Given the description of an element on the screen output the (x, y) to click on. 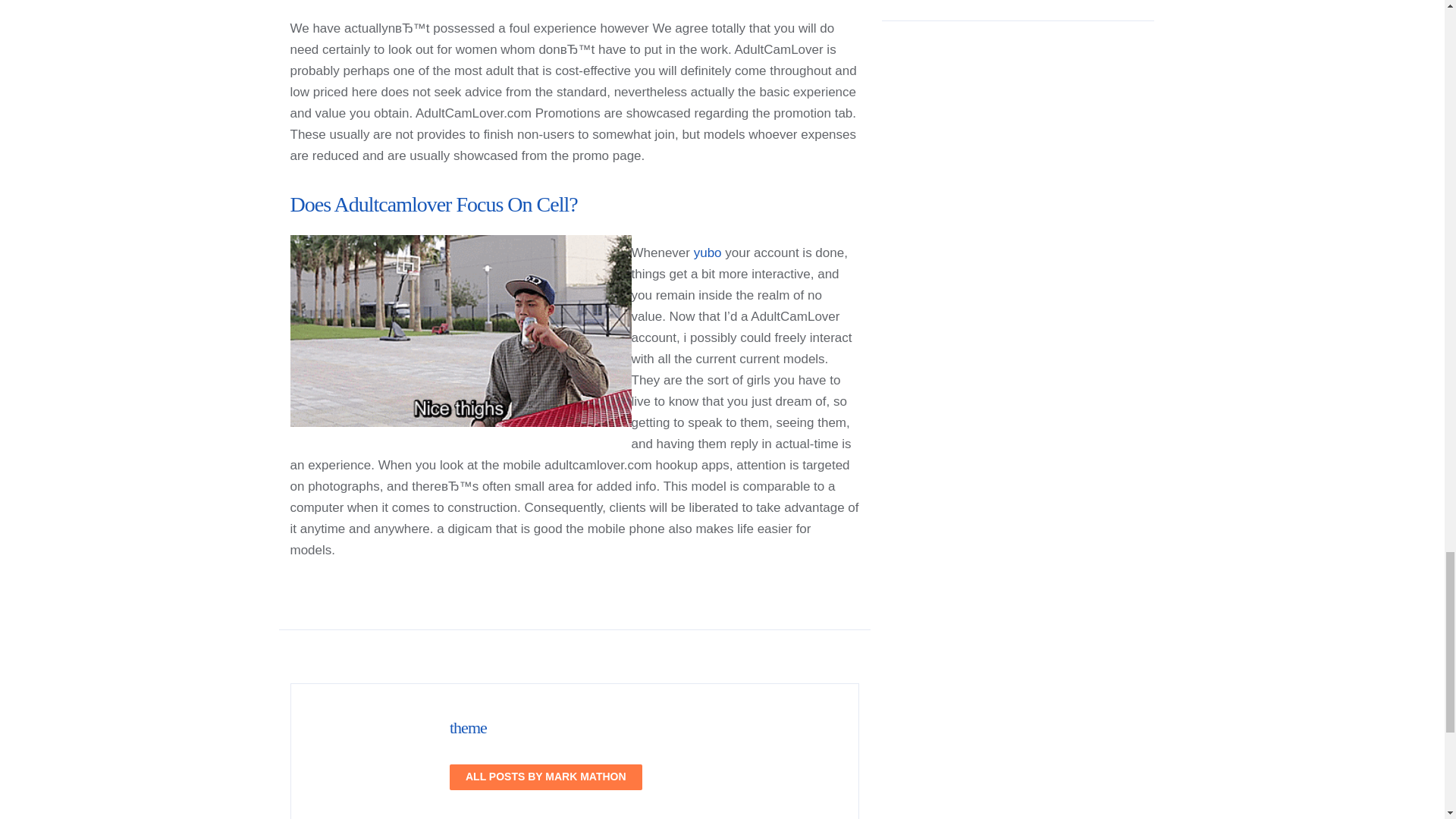
theme (467, 727)
yubo (708, 252)
ALL POSTS BY MARK MATHON (545, 777)
Posts by theme (467, 727)
